Given the description of an element on the screen output the (x, y) to click on. 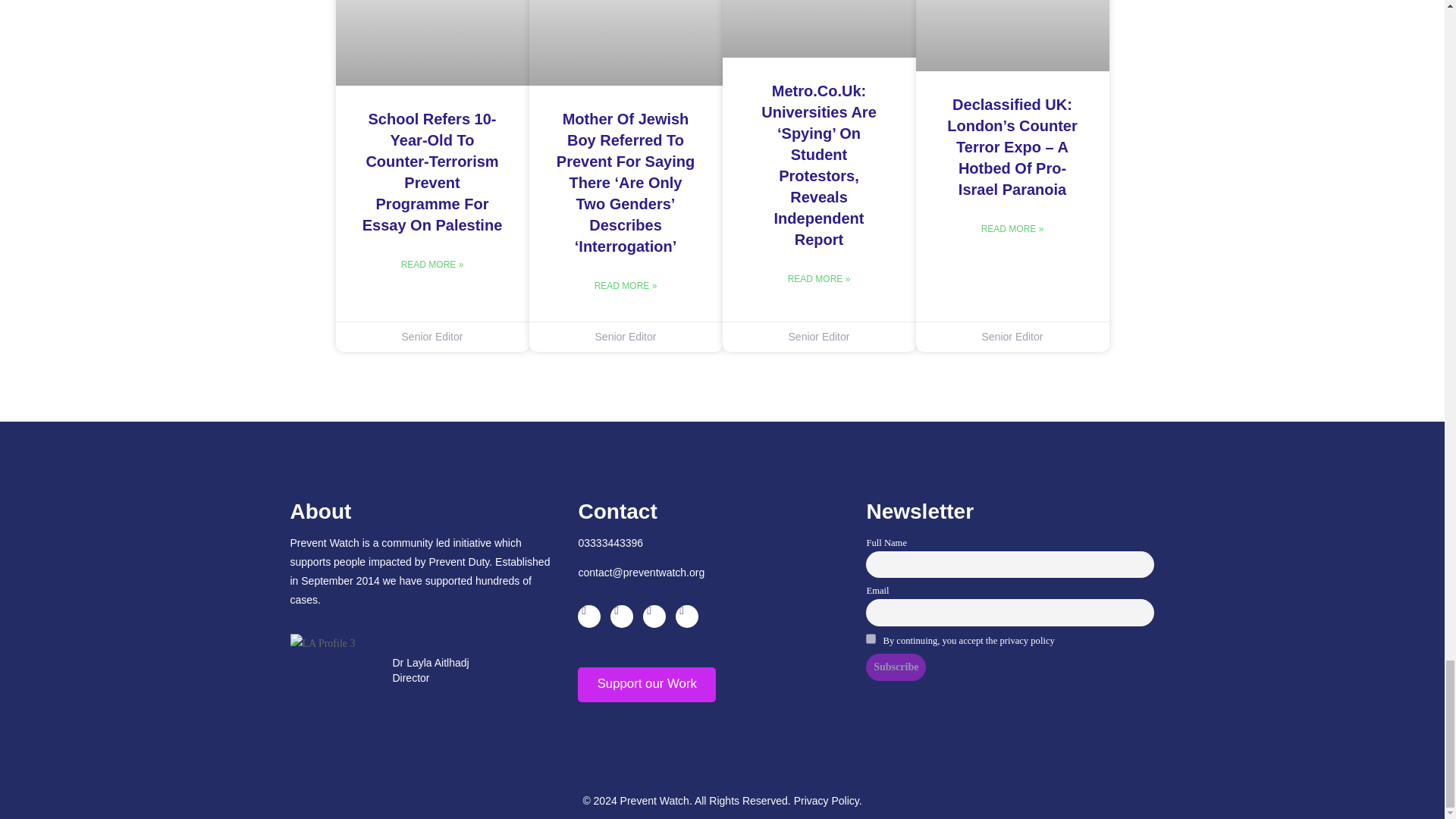
Subscribe (896, 666)
on (871, 638)
LA Profile 3 (322, 642)
